Given the description of an element on the screen output the (x, y) to click on. 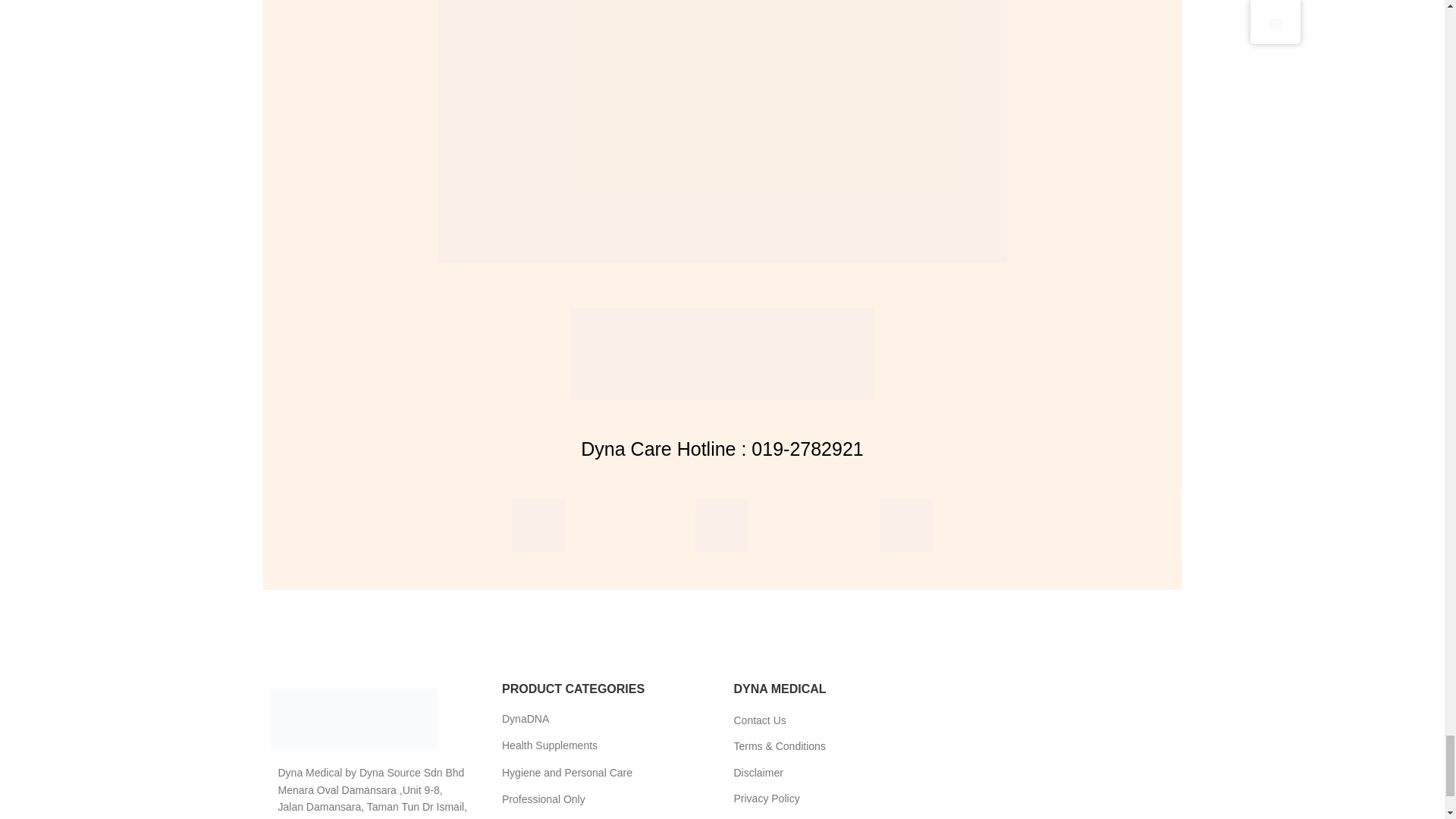
shopee-seeklogo (538, 525)
1685525042lazada-app-logo (906, 525)
